Given the description of an element on the screen output the (x, y) to click on. 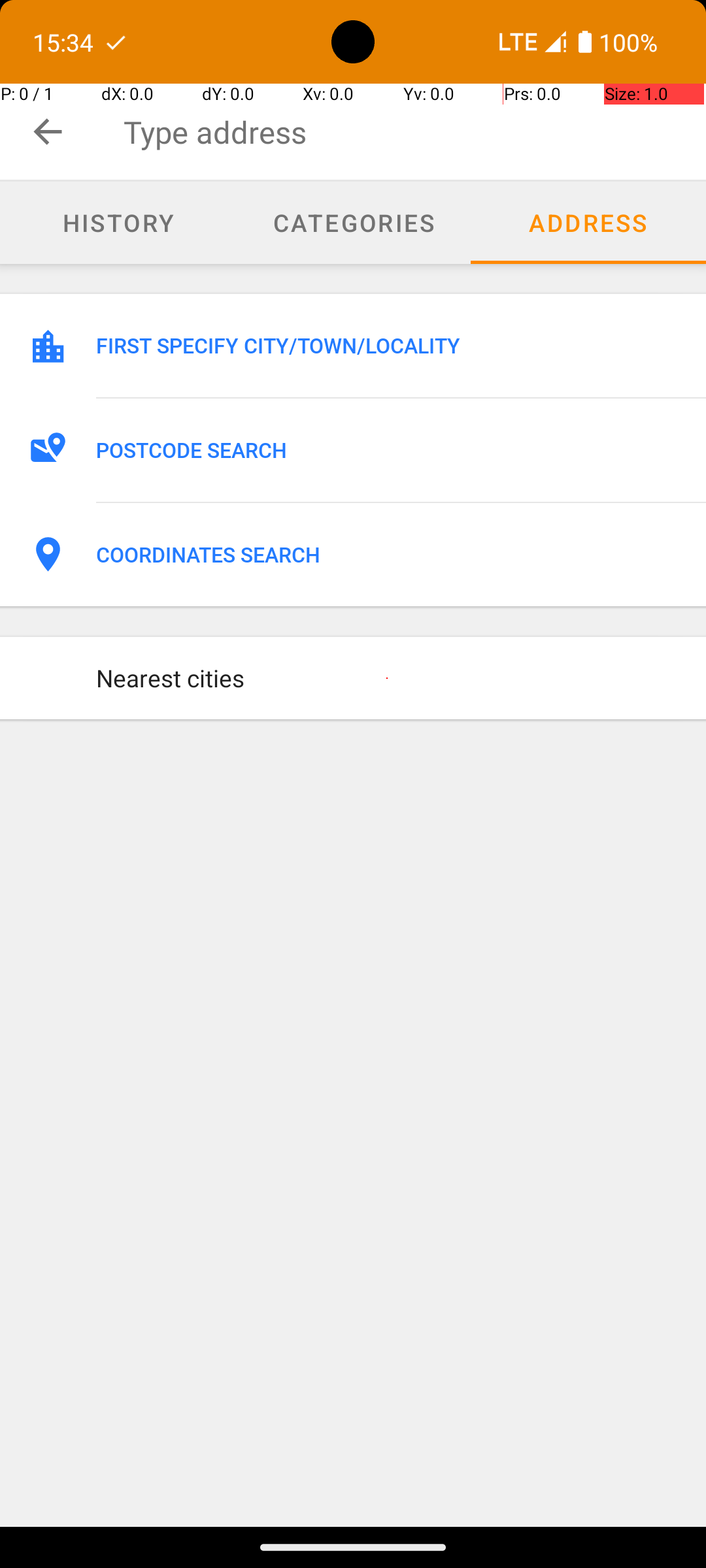
Type address Element type: android.widget.EditText (414, 131)
FIRST SPECIFY CITY/TOWN/LOCALITY Element type: android.widget.TextView (387, 345)
POSTCODE SEARCH Element type: android.widget.TextView (387, 450)
COORDINATES SEARCH Element type: android.widget.TextView (387, 554)
Nearest cities Element type: android.widget.TextView (387, 678)
